Given the description of an element on the screen output the (x, y) to click on. 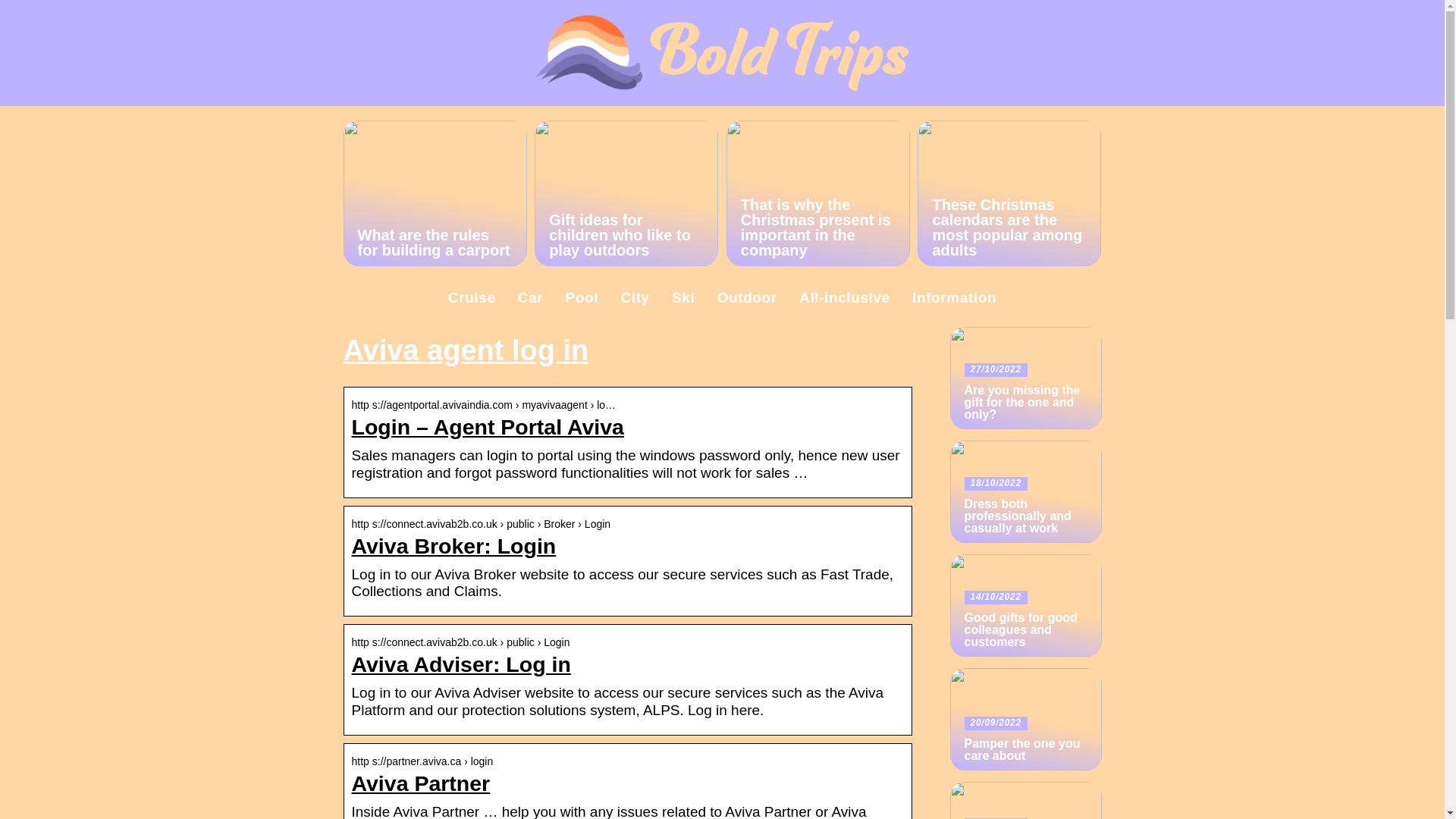
Cruise (472, 297)
All-inclusive (844, 297)
Outdoor (747, 297)
Ski (682, 297)
Car (530, 297)
Pool (582, 297)
Information (953, 297)
What are the rules for building a carport (433, 193)
Gift ideas for children who like to play outdoors (625, 193)
